Given the description of an element on the screen output the (x, y) to click on. 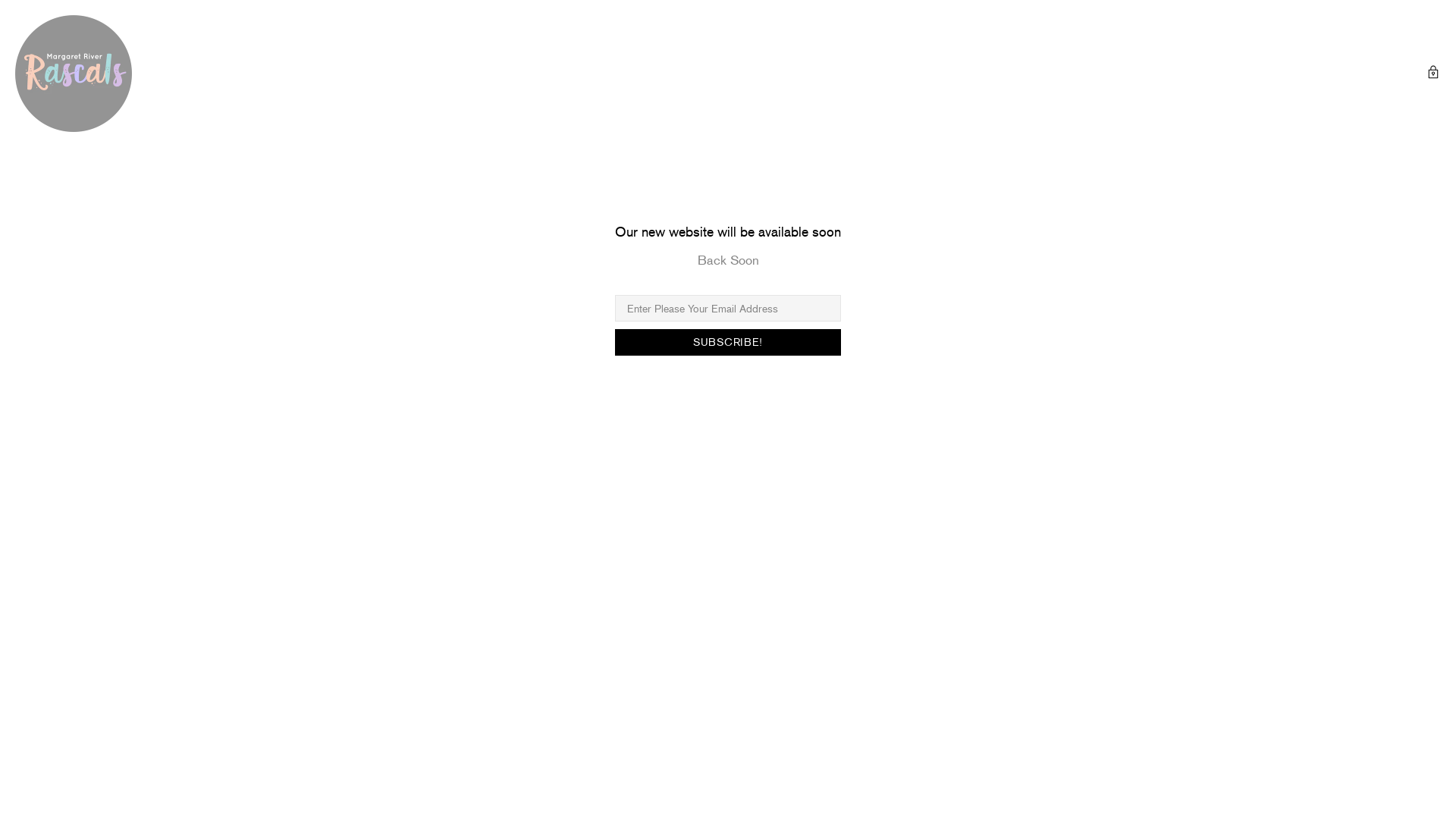
SUBSCRIBE! Element type: text (727, 342)
Margaret River Rascals Element type: text (73, 73)
